Given the description of an element on the screen output the (x, y) to click on. 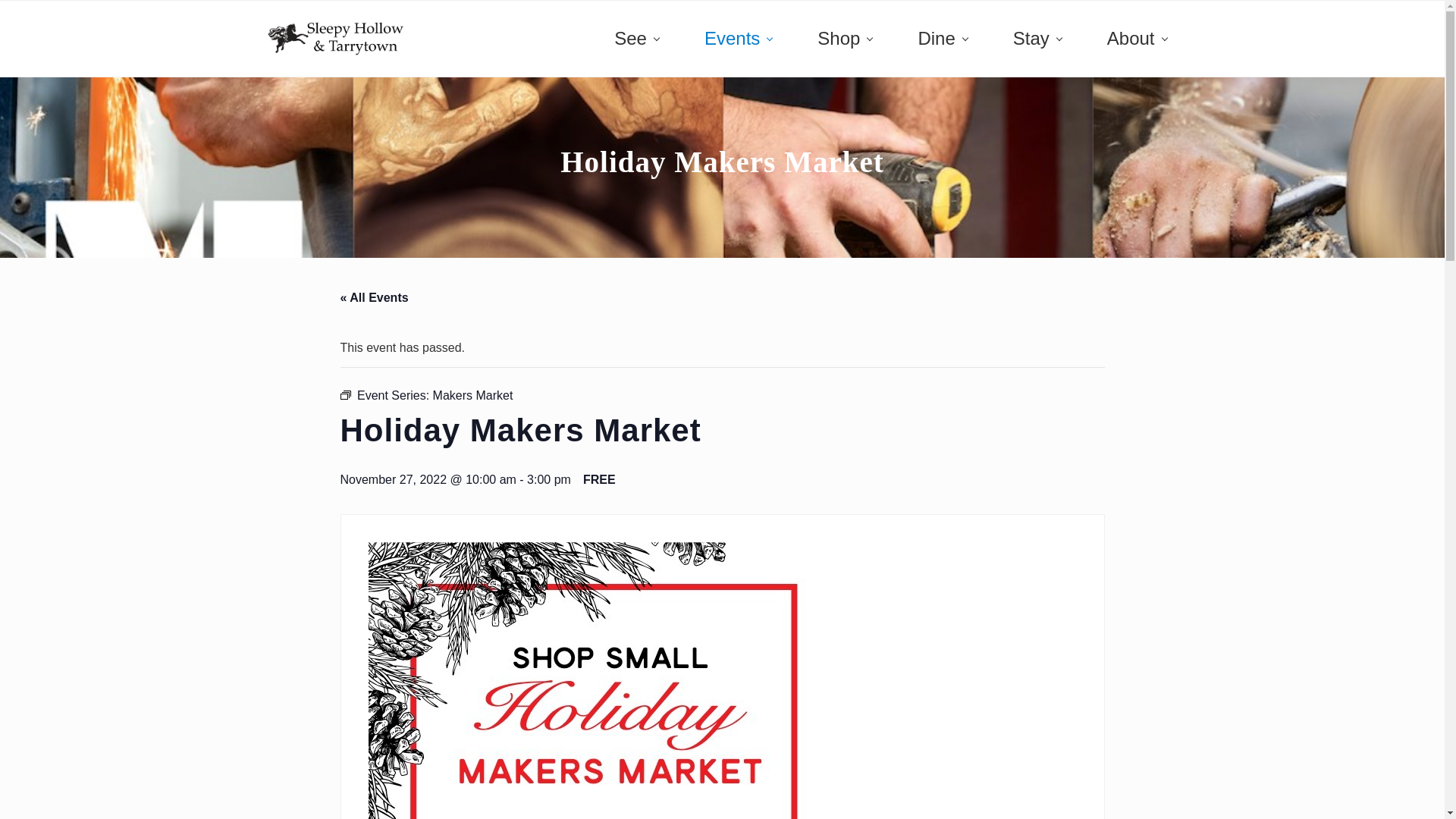
Events (737, 38)
Event Series (344, 394)
See (635, 38)
